Given the description of an element on the screen output the (x, y) to click on. 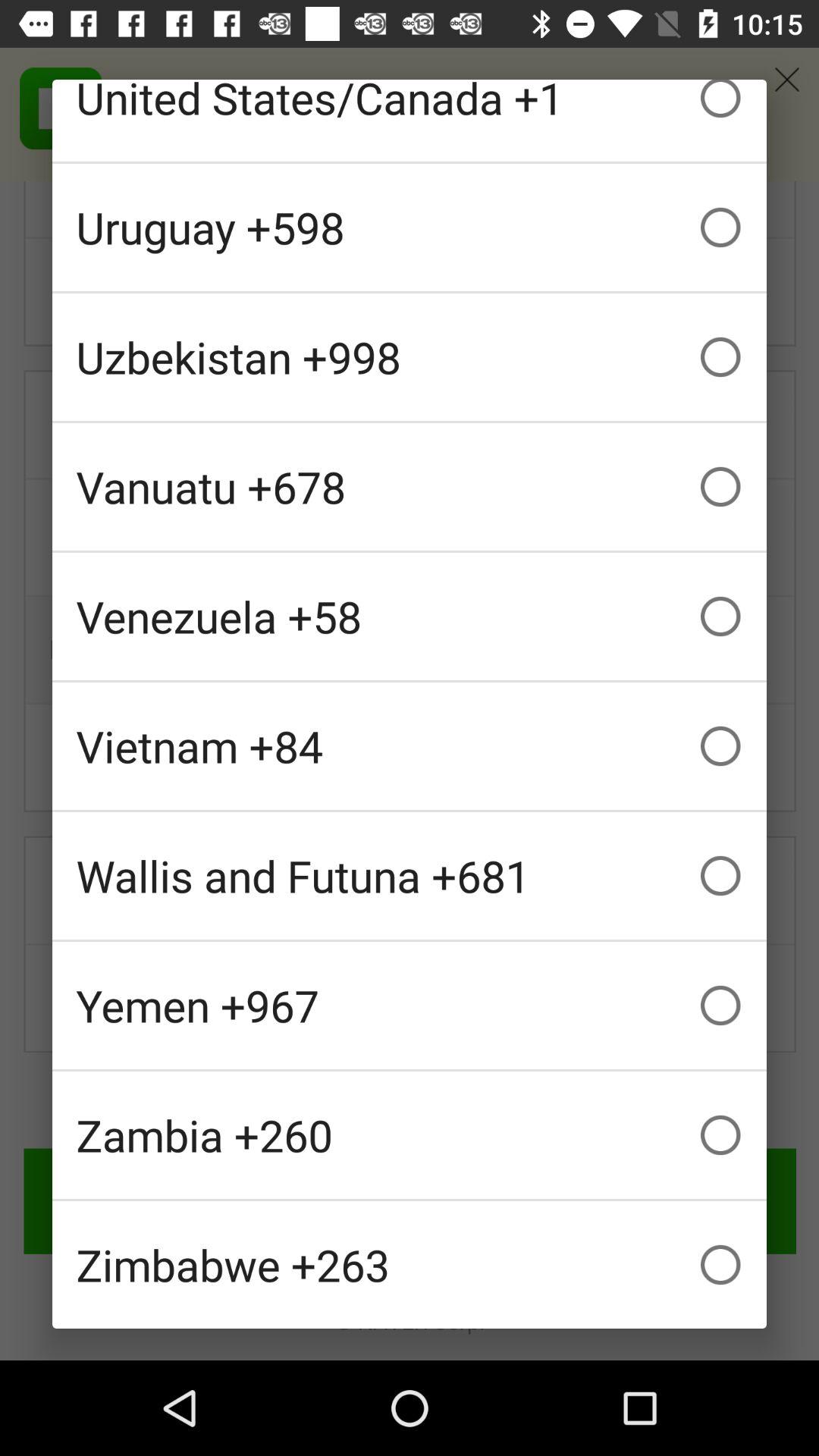
turn on the item above the uzbekistan +998 (409, 227)
